Given the description of an element on the screen output the (x, y) to click on. 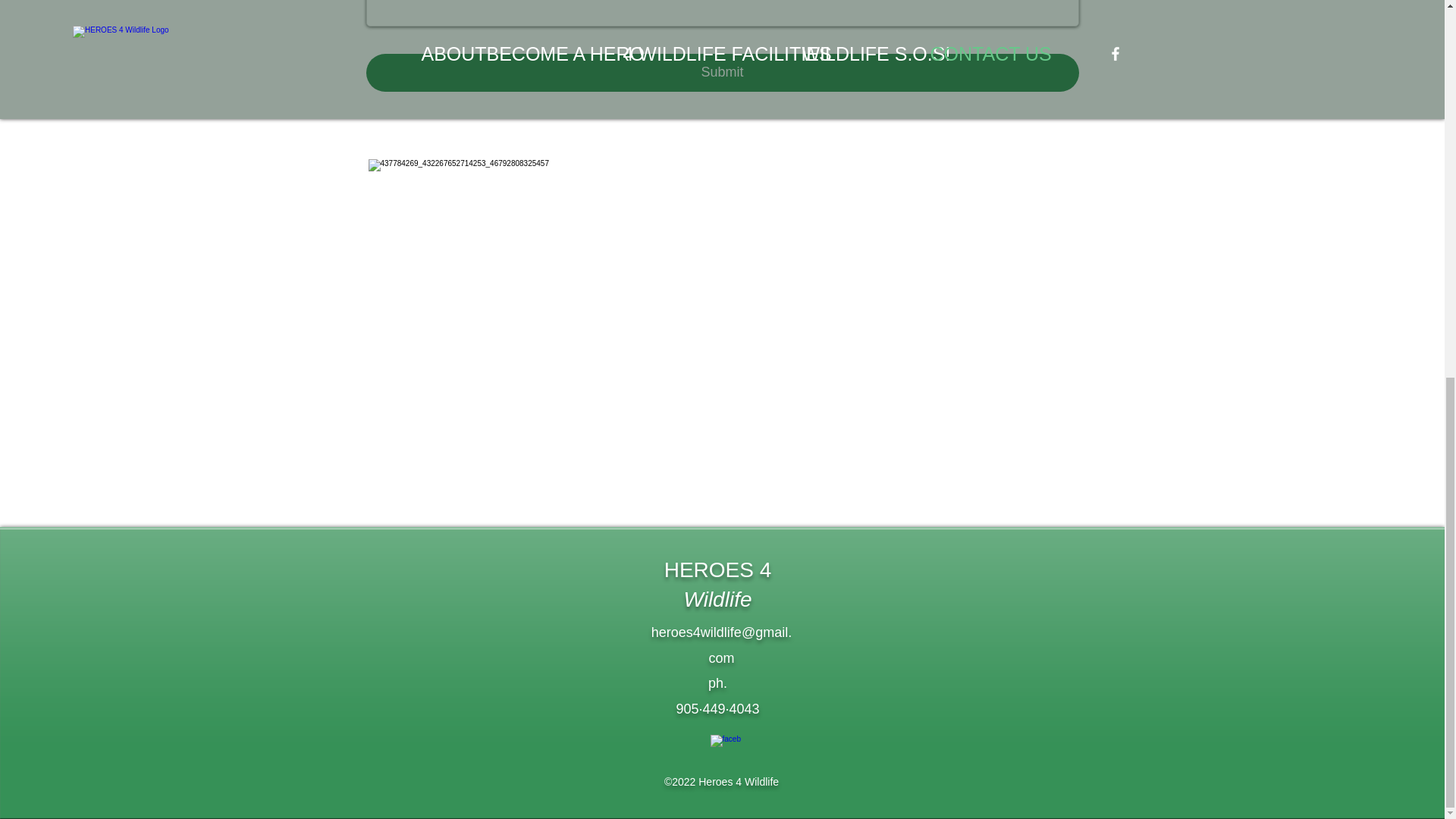
Submit (721, 72)
